Given the description of an element on the screen output the (x, y) to click on. 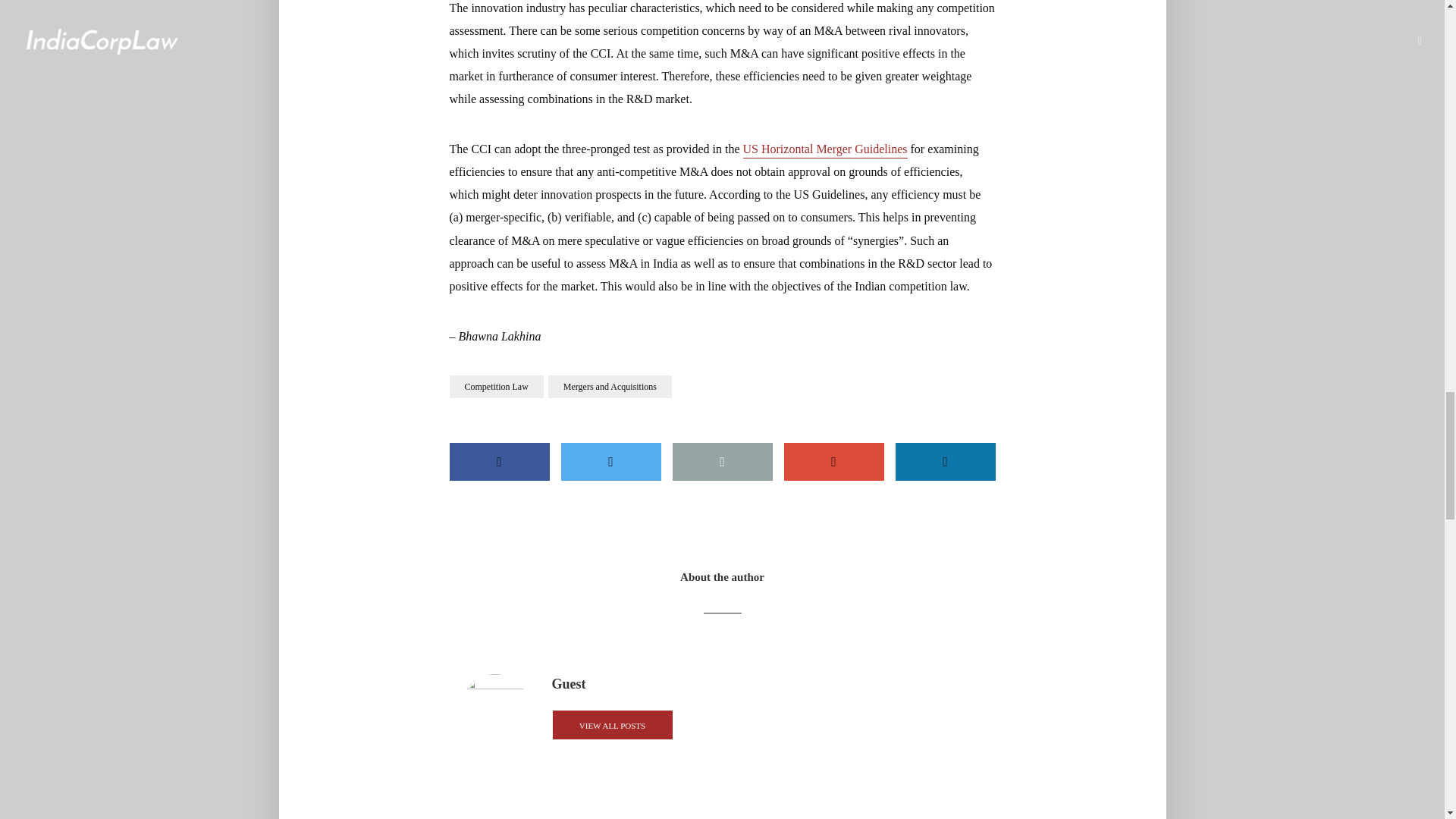
Competition Law (495, 386)
VIEW ALL POSTS (611, 725)
Mergers and Acquisitions (609, 386)
US Horizontal Merger Guidelines (824, 150)
